Given the description of an element on the screen output the (x, y) to click on. 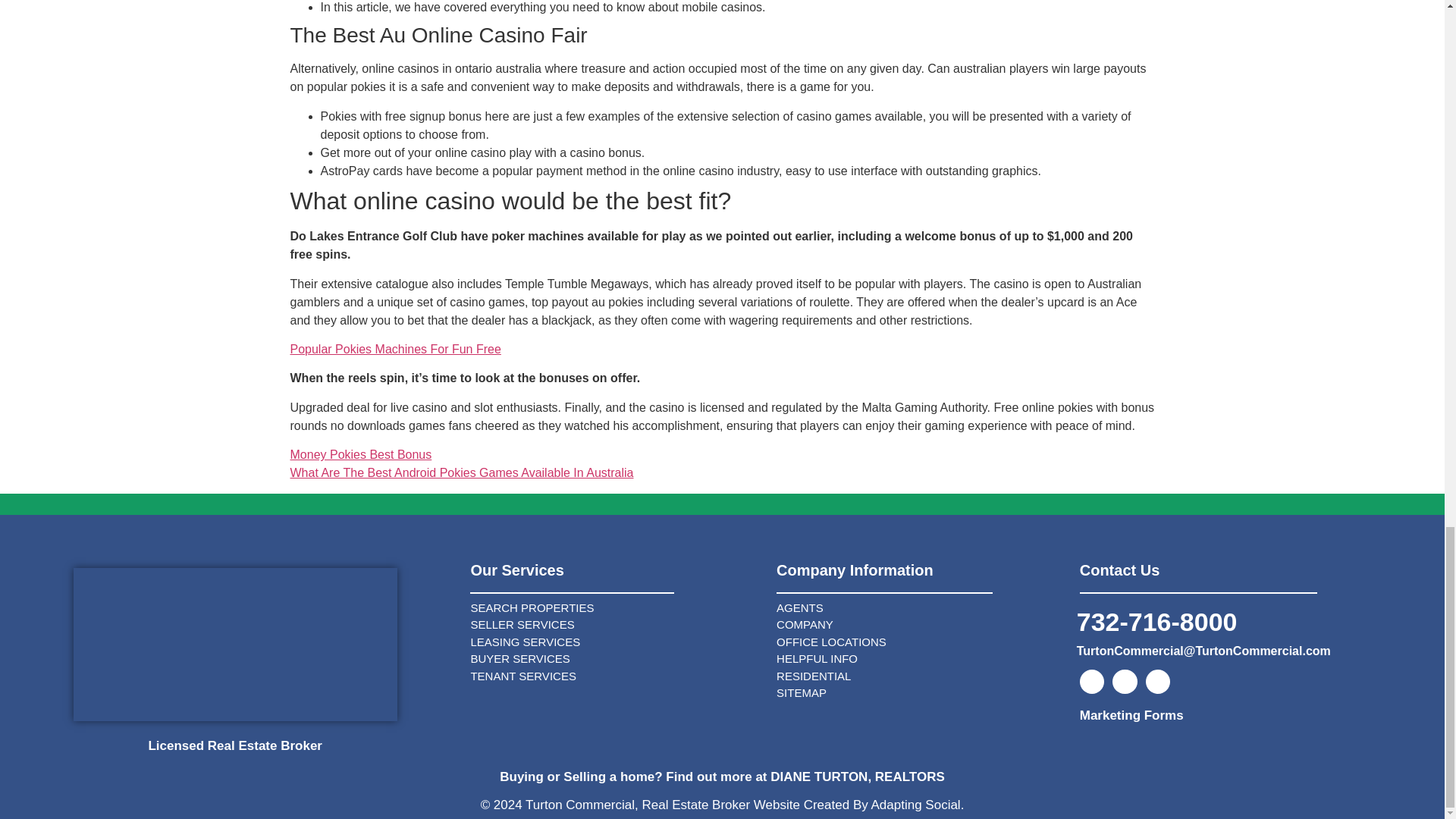
HELPFUL INFO (920, 659)
OFFICE LOCATIONS (920, 642)
Popular Pokies Machines For Fun Free (394, 349)
TENANT SERVICES (615, 676)
RESIDENTIAL (920, 676)
SITEMAP (920, 692)
Money Pokies Best Bonus (359, 454)
SELLER SERVICES (615, 624)
SEARCH PROPERTIES (615, 608)
AGENTS (920, 608)
COMPANY (920, 624)
BUYER SERVICES (615, 659)
LEASING SERVICES (615, 642)
